Given the description of an element on the screen output the (x, y) to click on. 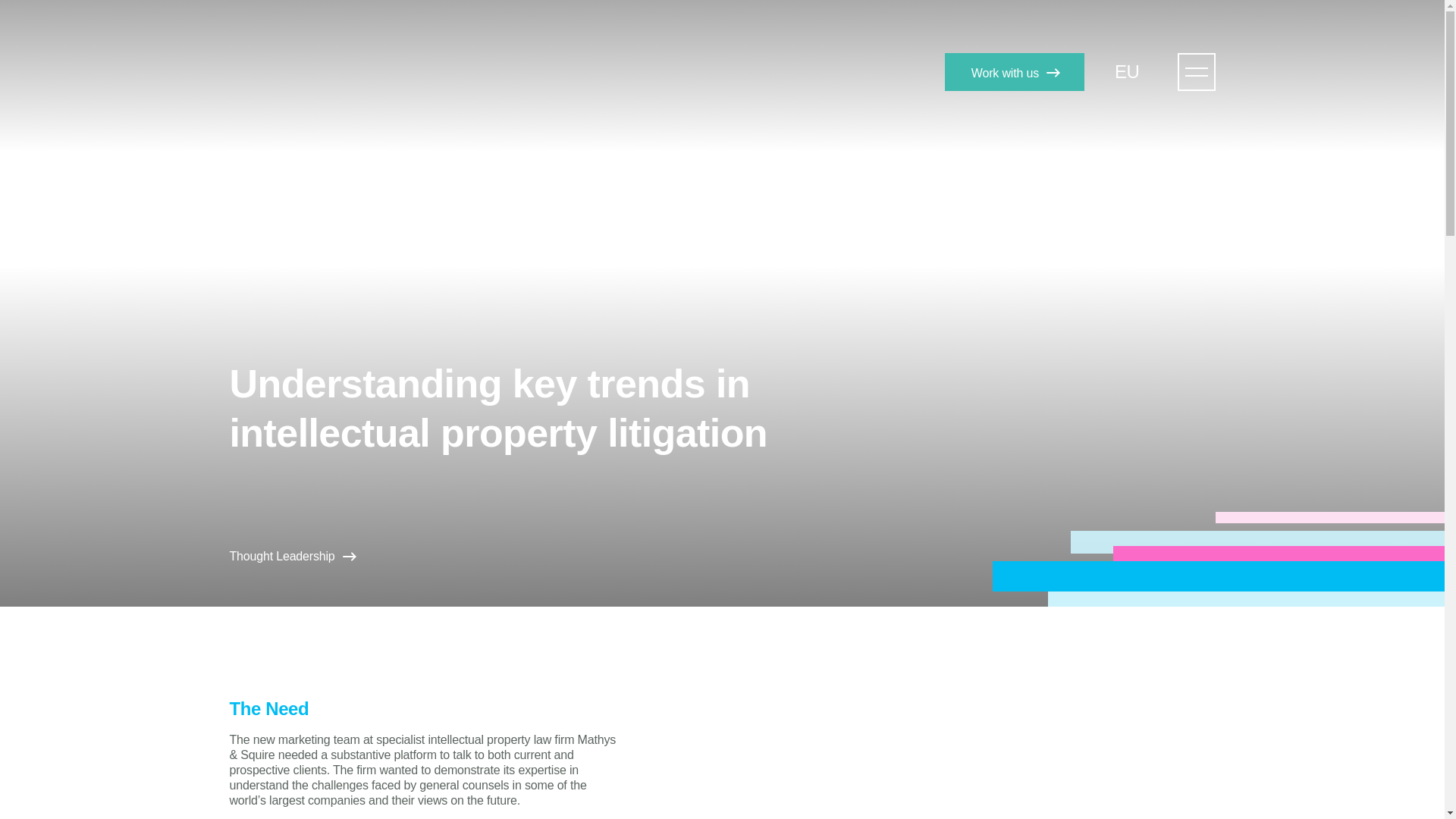
Work with us (1014, 71)
EU (1134, 71)
Thought Leadership (291, 556)
